Given the description of an element on the screen output the (x, y) to click on. 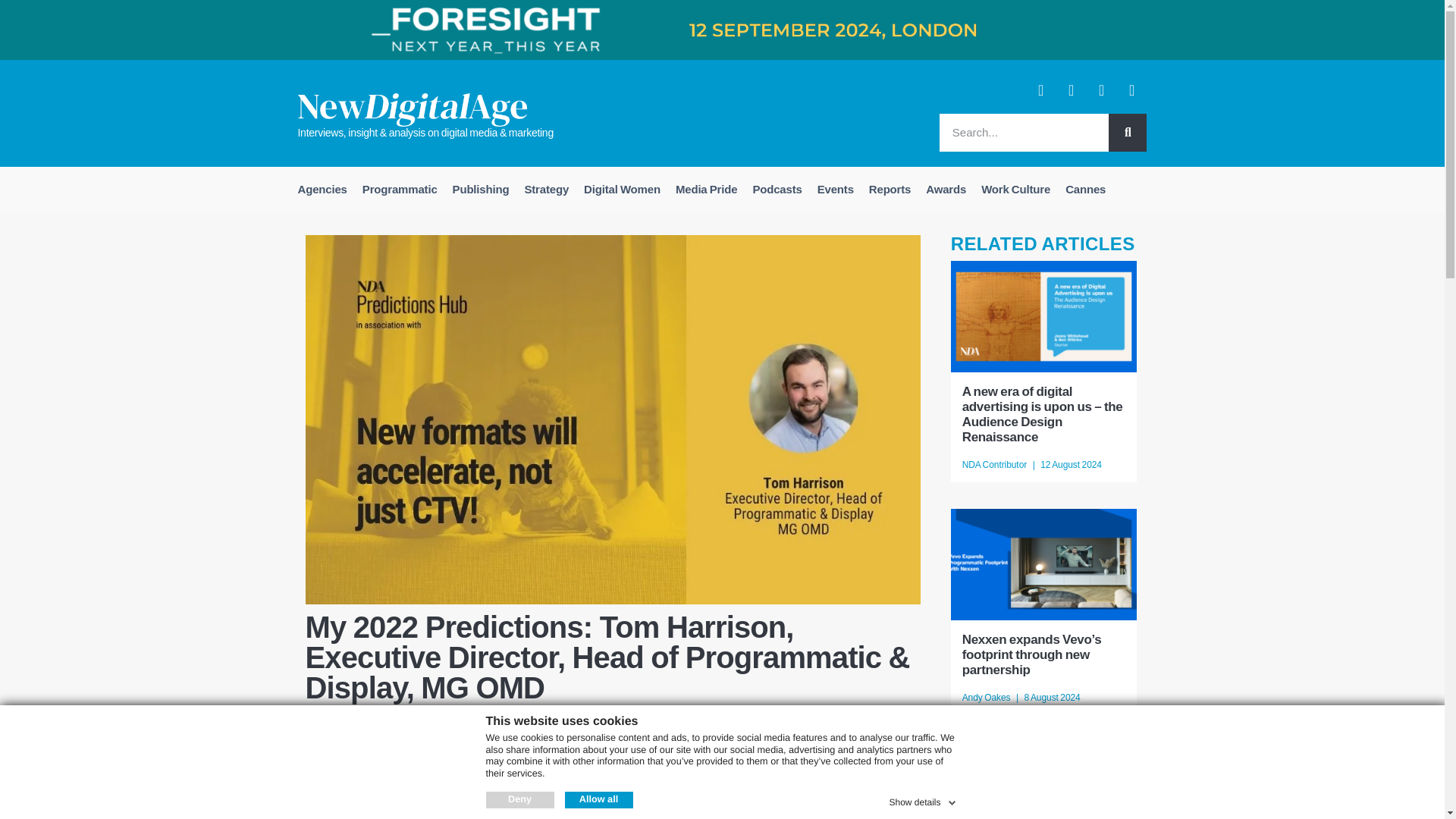
Show details (923, 799)
Allow all (597, 799)
Deny (518, 799)
